Given the description of an element on the screen output the (x, y) to click on. 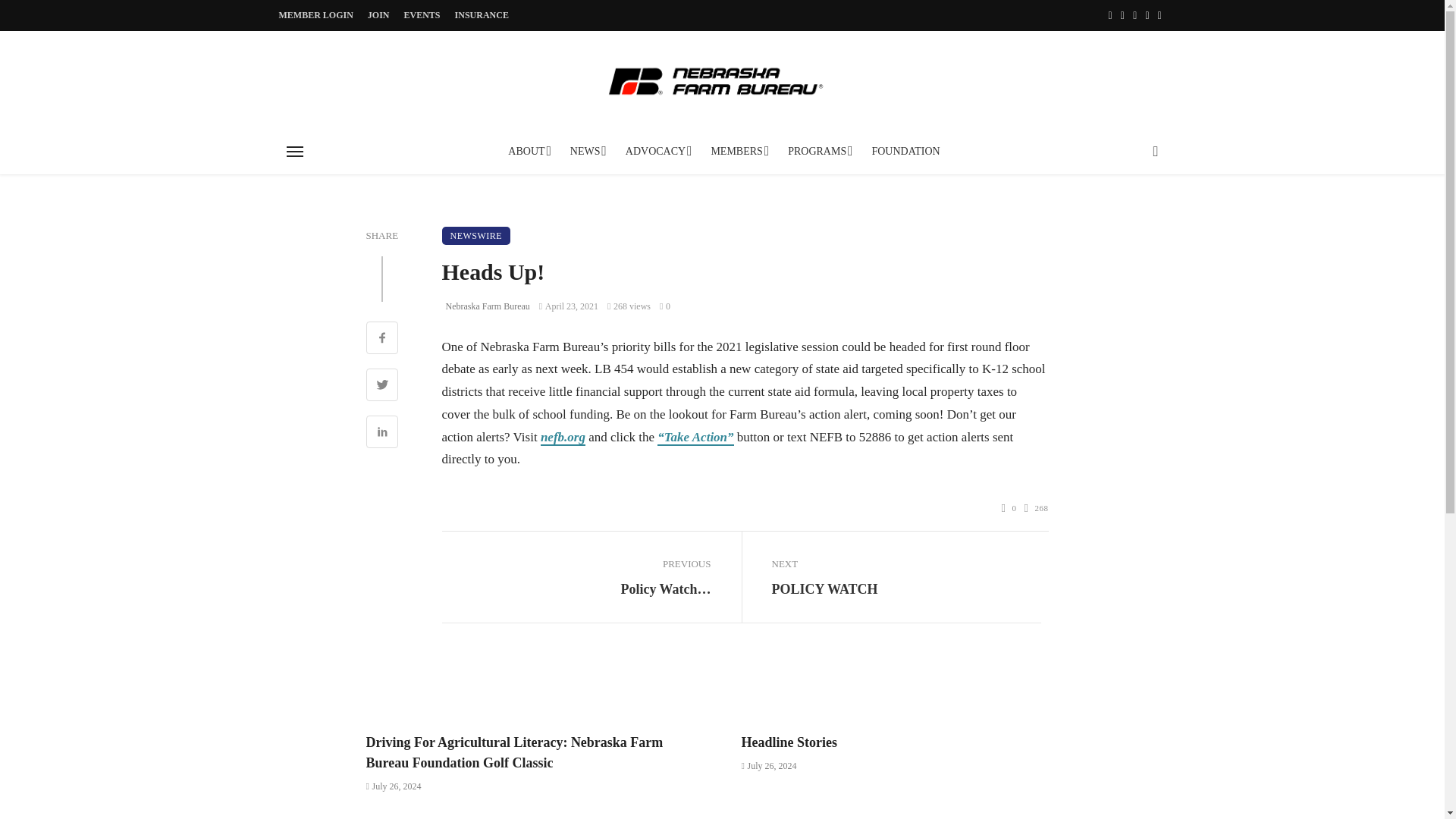
ABOUT (527, 151)
268 Views (1036, 508)
July 26, 2024 at 3:51 pm (768, 765)
0 Comments (1008, 508)
Share on Linkedin (381, 433)
Share on Facebook (381, 339)
ADVOCACY (657, 151)
MEMBER LOGIN (316, 14)
EVENTS (421, 14)
April 23, 2021 at 12:18 pm (568, 306)
JOIN (378, 14)
July 26, 2024 at 3:52 pm (392, 786)
INSURANCE (481, 14)
0 Comments (664, 306)
Share on Twitter (381, 386)
